Given the description of an element on the screen output the (x, y) to click on. 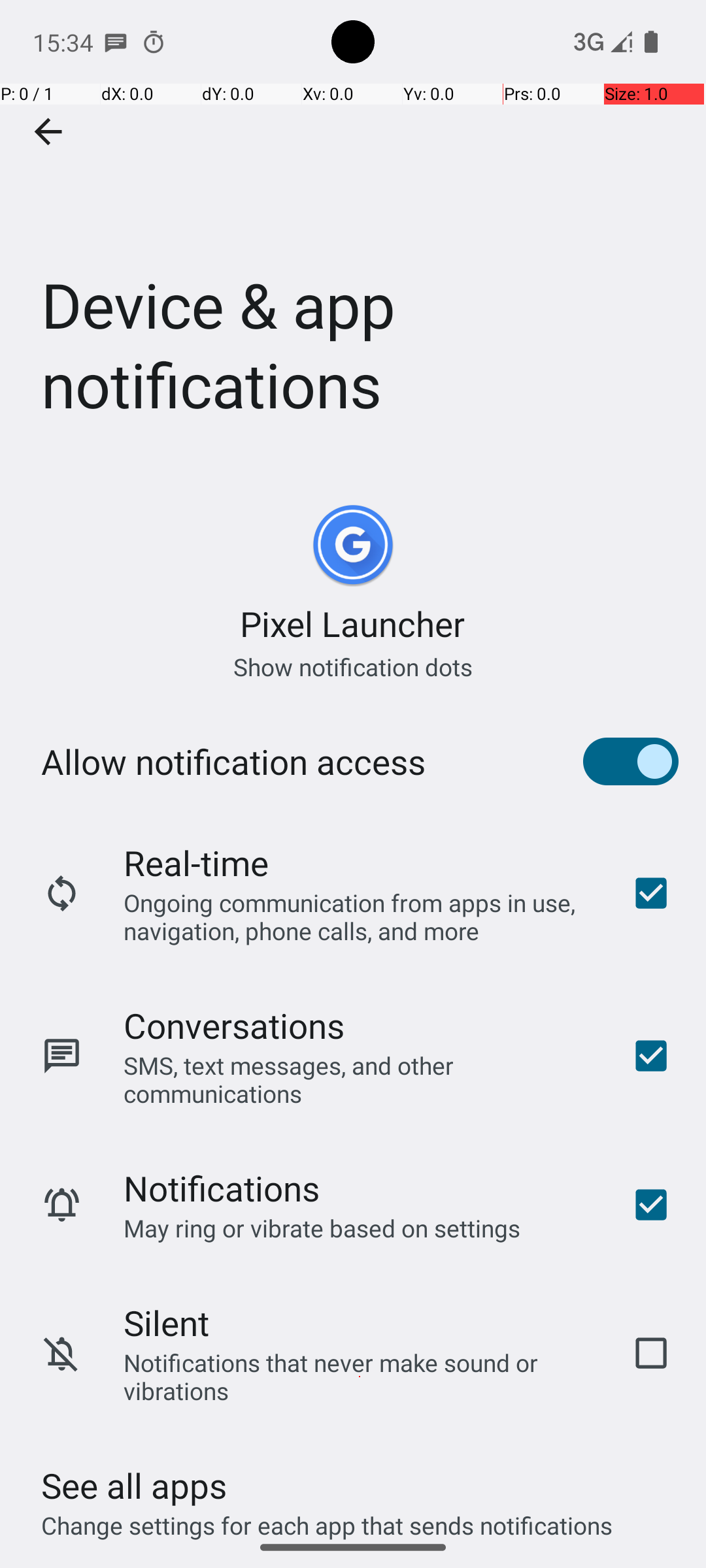
Show notification dots Element type: android.widget.TextView (352, 666)
